Given the description of an element on the screen output the (x, y) to click on. 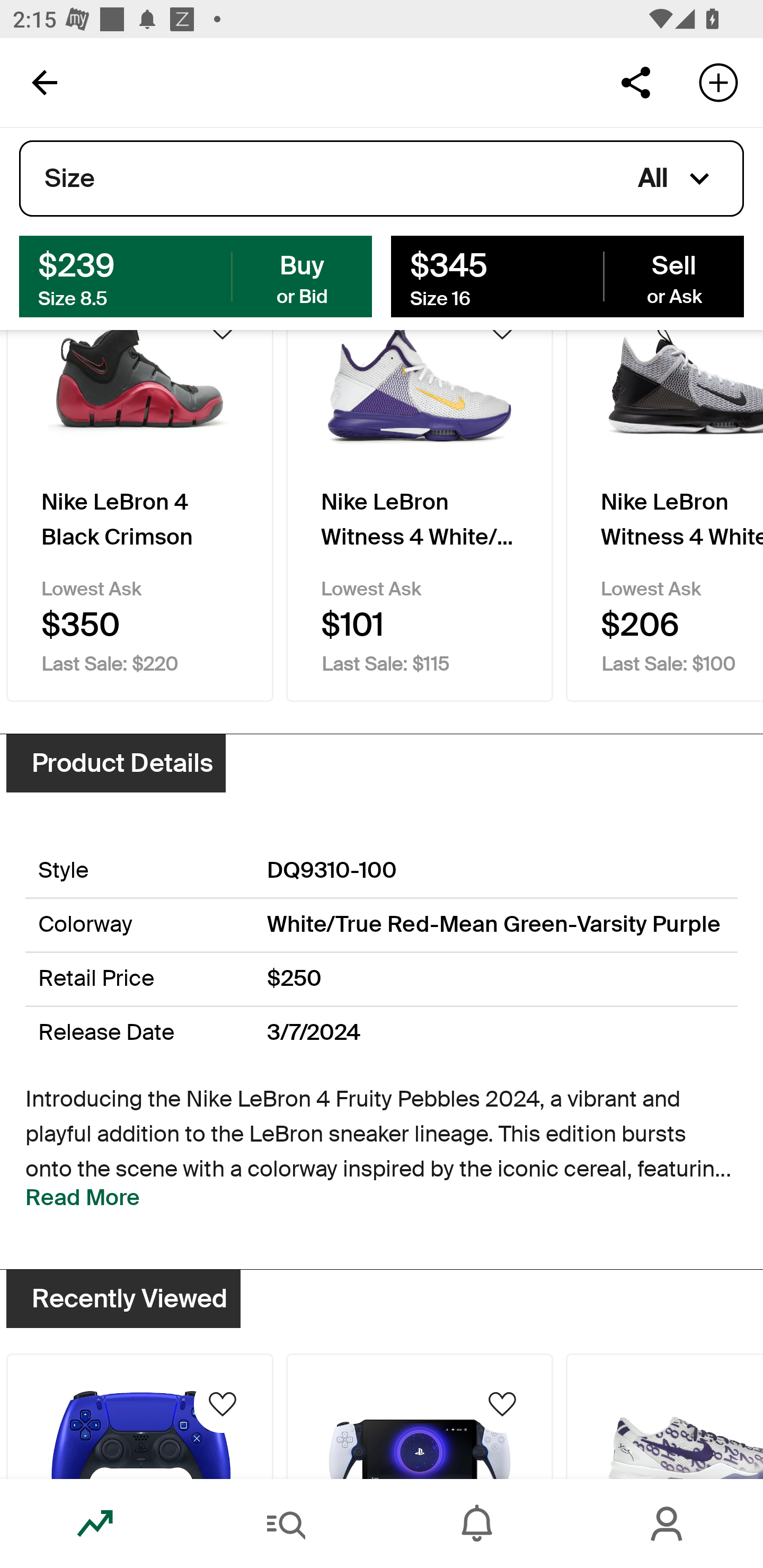
Share (635, 81)
Add (718, 81)
Size All (381, 178)
$239 Buy Size 8.5 or Bid (195, 275)
$345 Sell Size 16 or Ask (566, 275)
Read More (82, 1197)
Product Image (139, 1415)
Product Image (419, 1415)
Product Image (664, 1415)
Search (285, 1523)
Inbox (476, 1523)
Account (667, 1523)
